Given the description of an element on the screen output the (x, y) to click on. 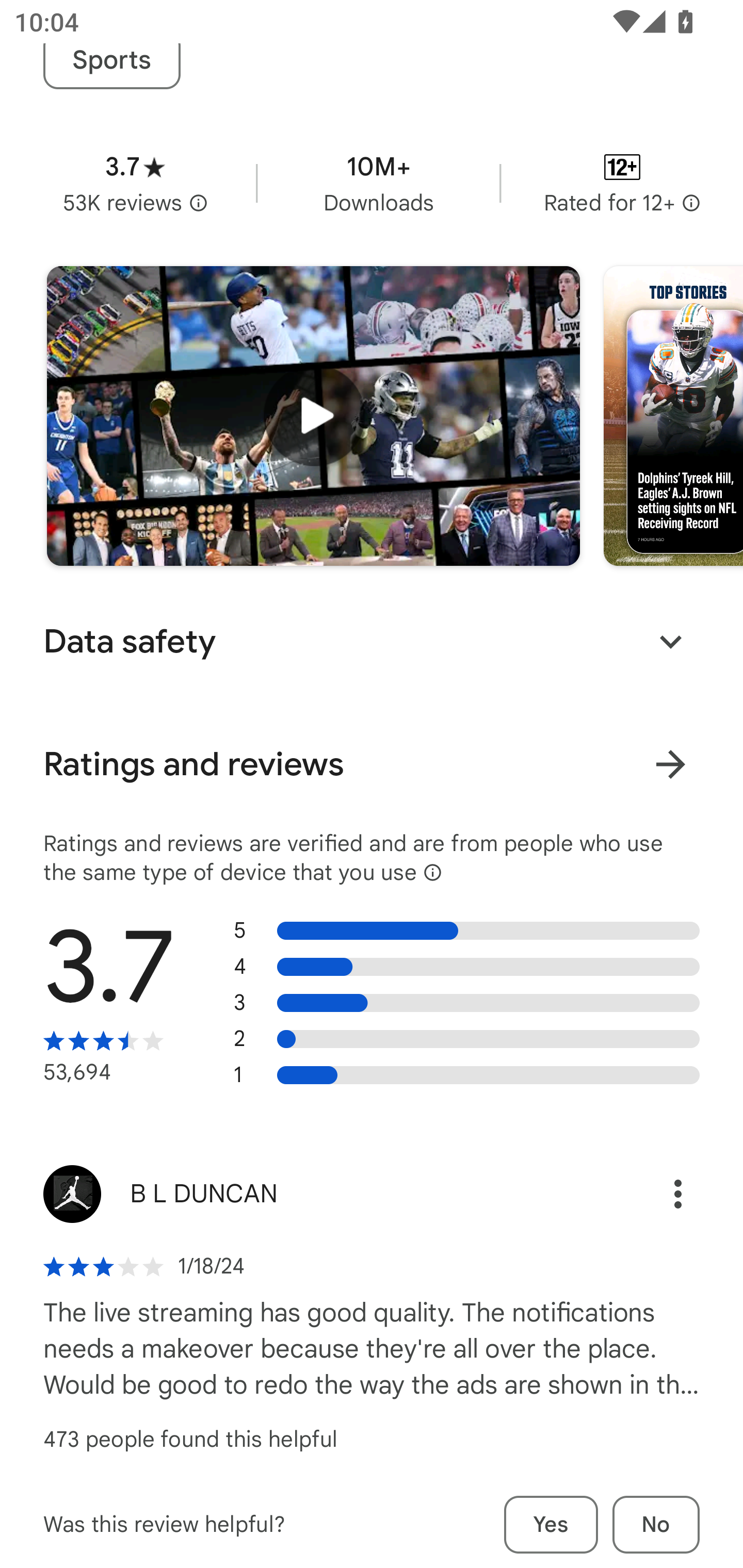
Average rating 3.7 stars in 53 thousand reviews (135, 183)
Content rating Rated for 12+ (622, 183)
Play trailer for "FOX Sports: Watch Live" (313, 416)
Data safety Expand (371, 641)
Expand (670, 641)
Ratings and reviews View all ratings and reviews (371, 764)
View all ratings and reviews (670, 764)
Options (655, 1193)
Yes (550, 1524)
No (655, 1524)
